Given the description of an element on the screen output the (x, y) to click on. 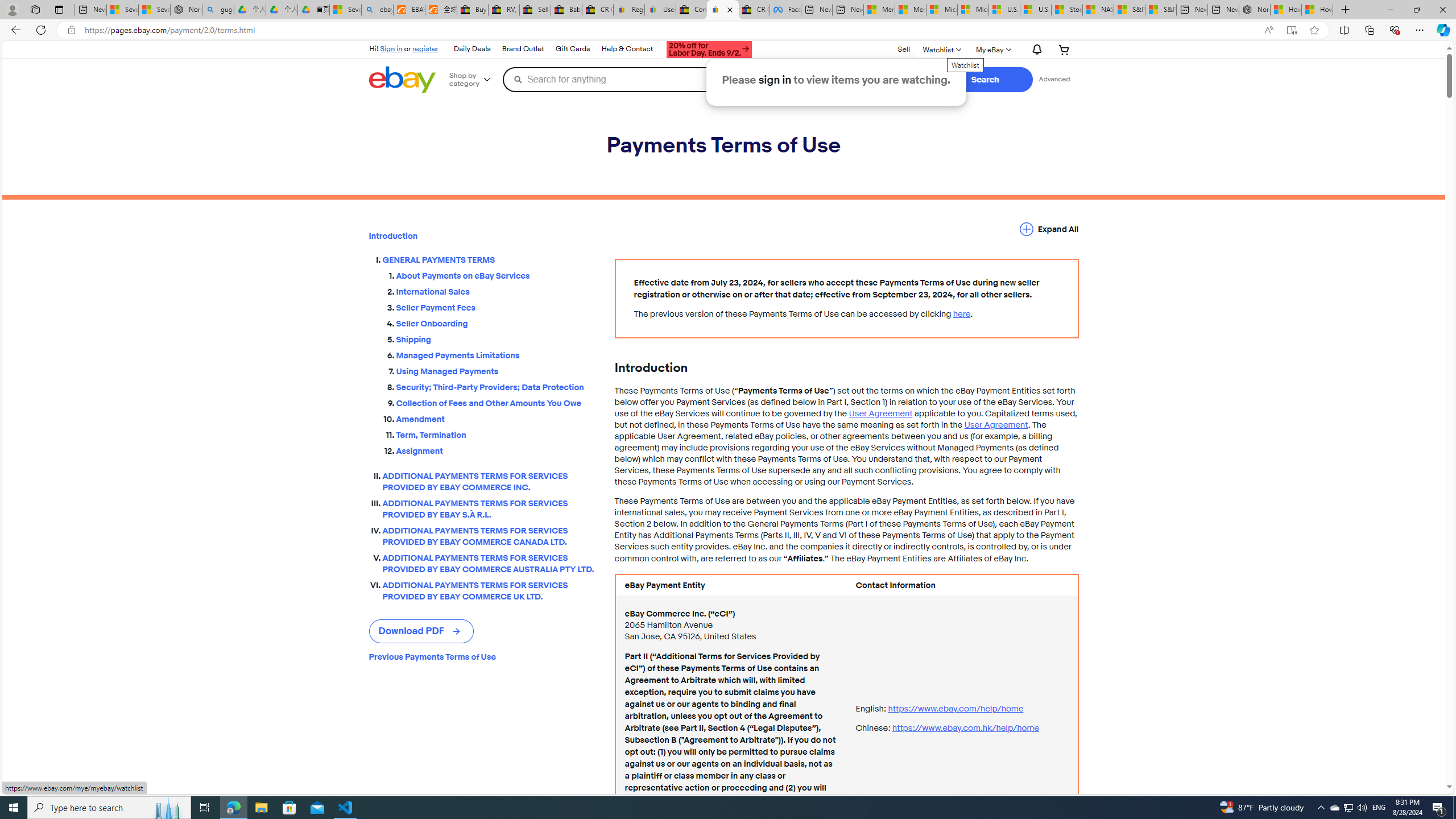
eBay Home (401, 79)
https://www.ebay.com.hk/ help/home (965, 727)
Help & Contact (626, 49)
Shipping (496, 339)
My eBayExpand My eBay (992, 49)
Watchlist (940, 49)
Gift Cards (571, 49)
Class: ski-btn__arrow (456, 631)
